Given the description of an element on the screen output the (x, y) to click on. 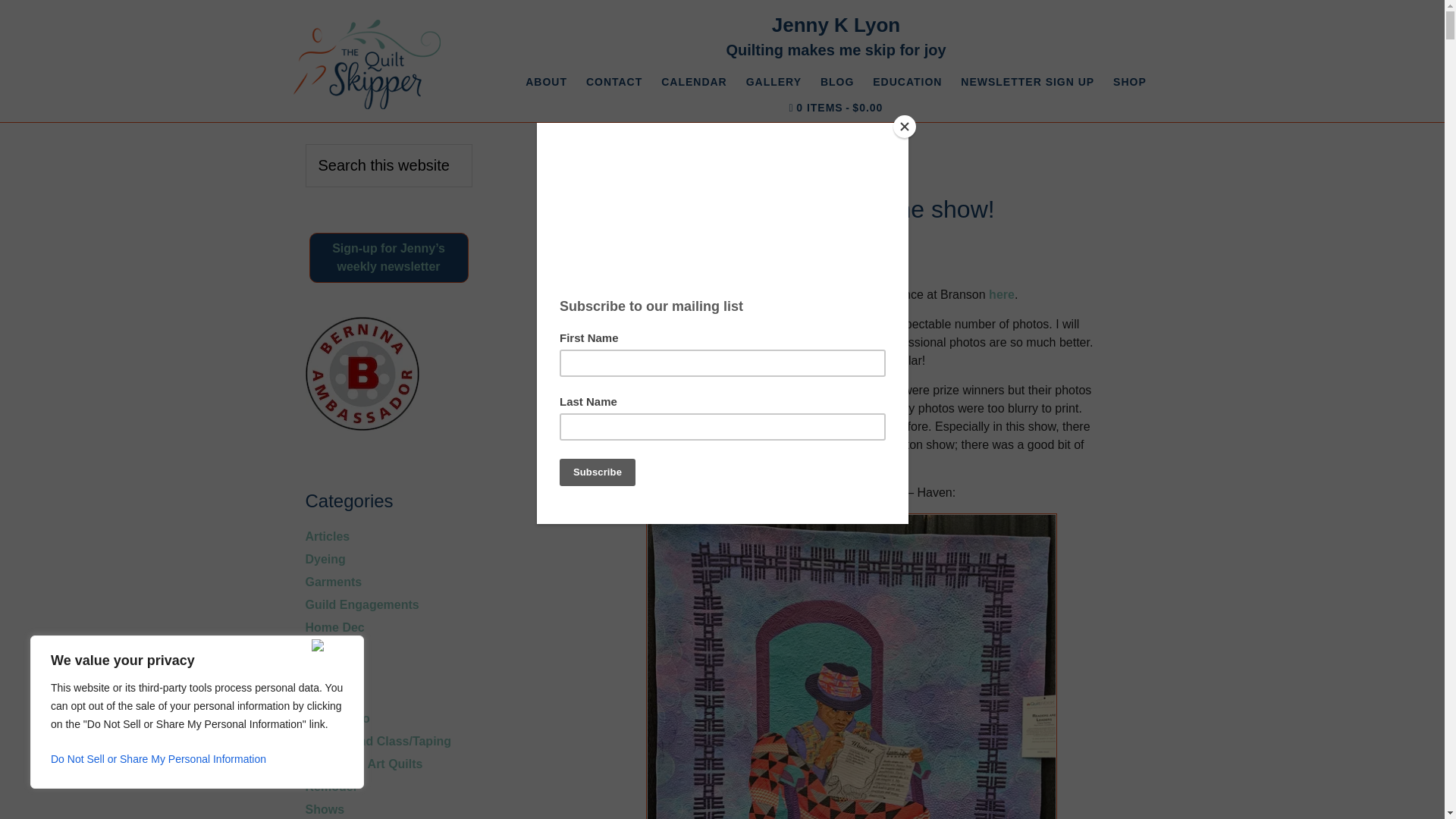
BLOG (836, 81)
here (1001, 294)
Start shopping (836, 108)
SHOP (1129, 81)
THE QUILT SKIPPER (365, 64)
ABOUT (546, 81)
NEWSLETTER SIGN UP (1027, 81)
here (780, 359)
CONTACT (613, 81)
Do Not Sell or Share My Personal Information (196, 759)
EDUCATION (906, 81)
CALENDAR (694, 81)
GALLERY (773, 81)
